Given the description of an element on the screen output the (x, y) to click on. 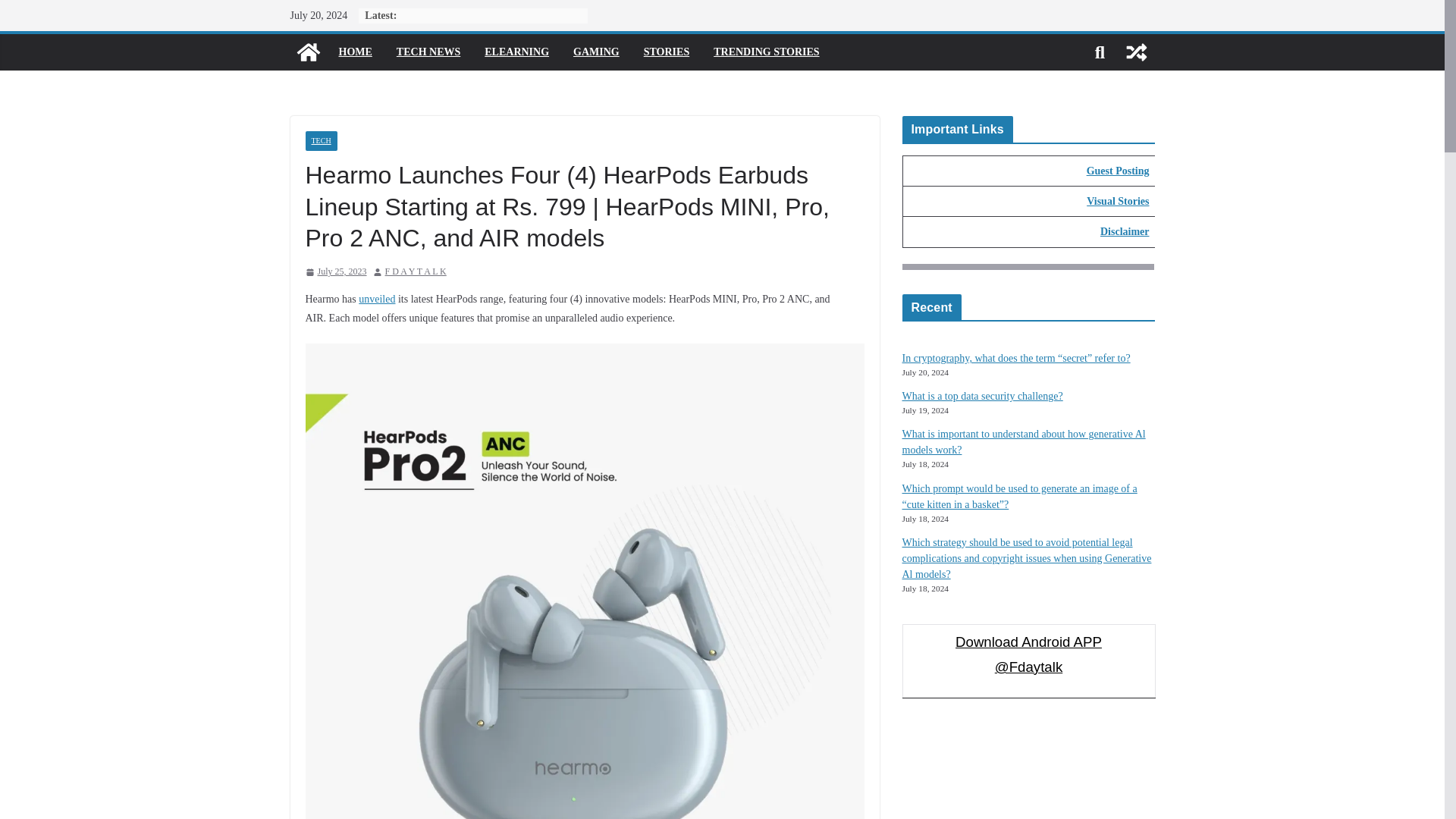
TECH (320, 140)
Disclaimer (1125, 231)
View a random post (1136, 52)
July 25, 2023 (335, 271)
STORIES (665, 52)
ELEARNING (516, 52)
Guest Posting (1118, 170)
Visual Stories (1117, 201)
HOME (354, 52)
3:05 pm (335, 271)
unveiled (376, 298)
TRENDING STORIES (765, 52)
fdaytalk.com (307, 52)
